Given the description of an element on the screen output the (x, y) to click on. 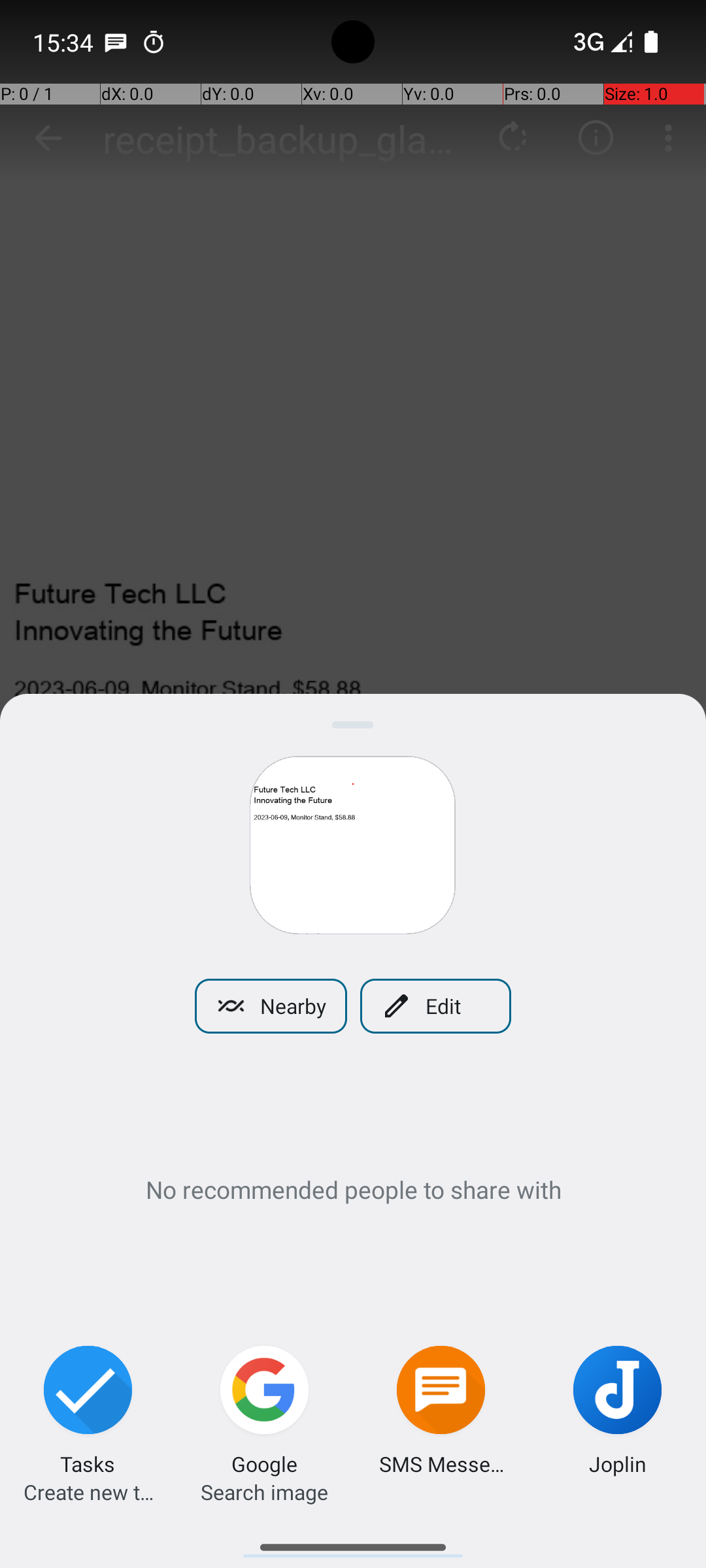
Search image Element type: android.widget.TextView (264, 1491)
